Given the description of an element on the screen output the (x, y) to click on. 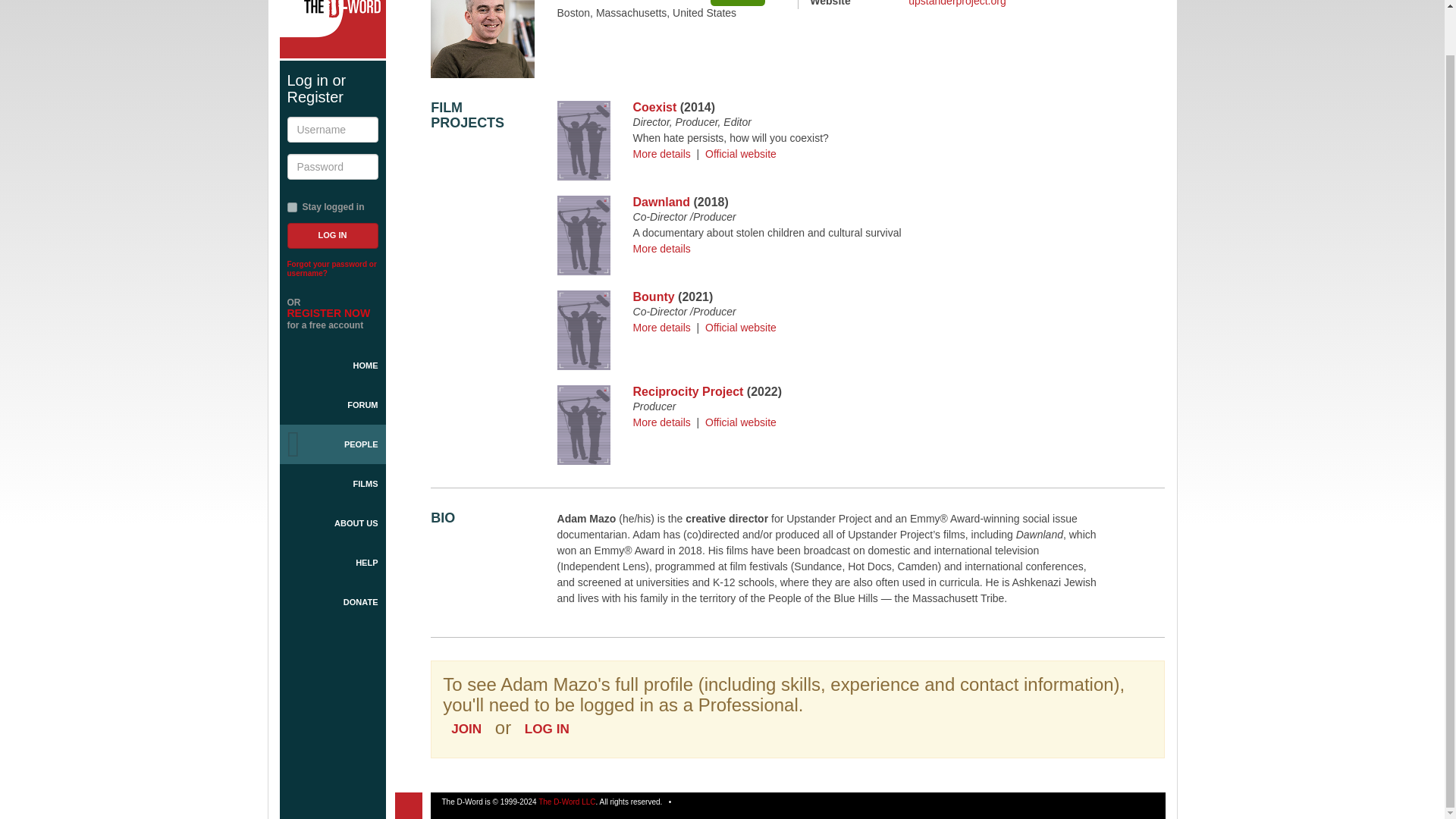
REGISTER NOW (327, 313)
JOIN (465, 728)
HELP (332, 562)
Reciprocity Project (688, 391)
1 (291, 207)
Official website (740, 153)
More details (661, 248)
DONATE (332, 601)
Coexist (655, 106)
More details (661, 153)
The D-Word (332, 29)
LOG IN (547, 728)
ABOUT US (332, 522)
The D-Word LLC (566, 801)
FORUM (332, 404)
